Given the description of an element on the screen output the (x, y) to click on. 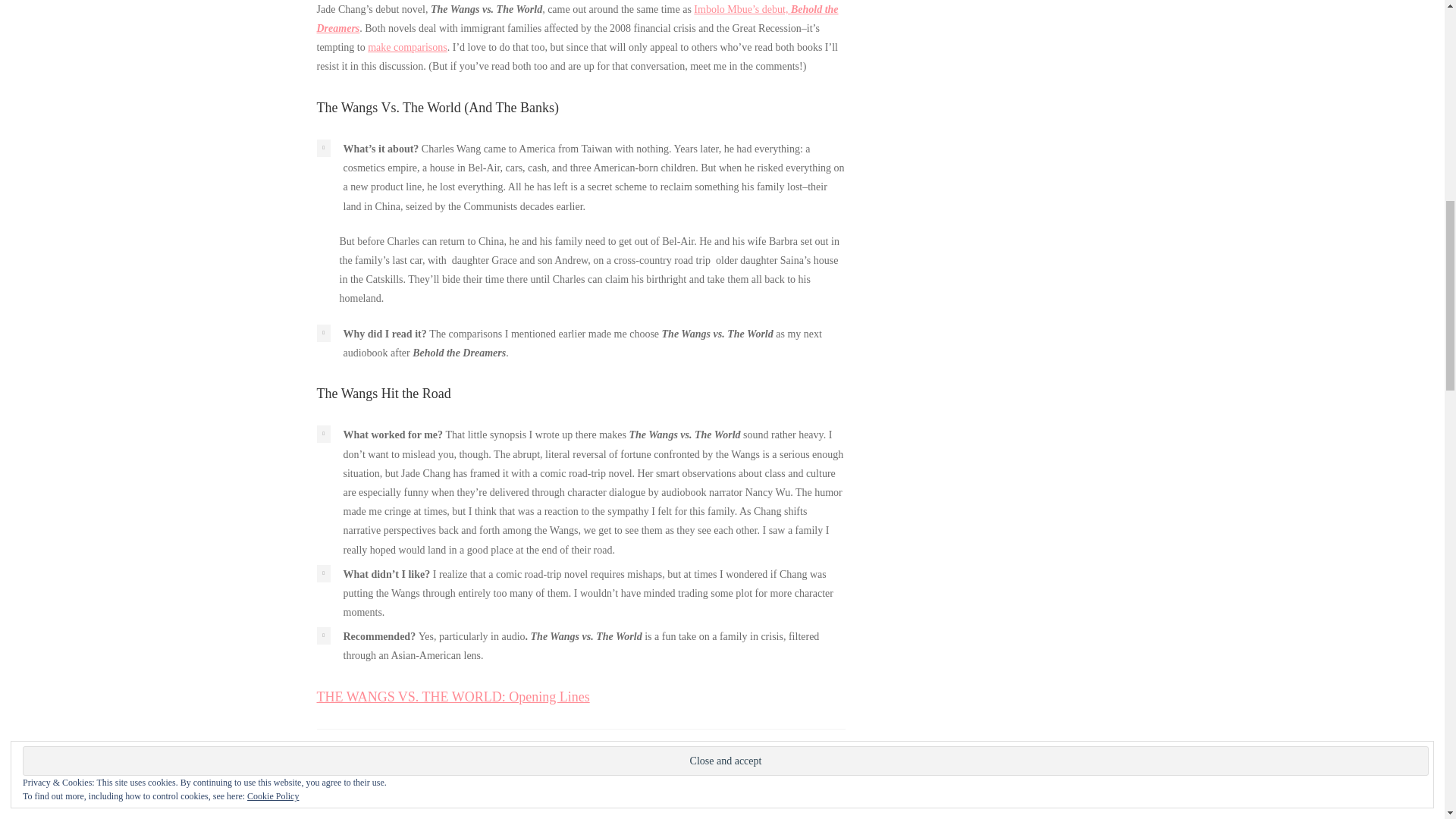
THE WANGS VS. THE WORLD: Opening Lines (453, 696)
make comparisons (407, 47)
